Given the description of an element on the screen output the (x, y) to click on. 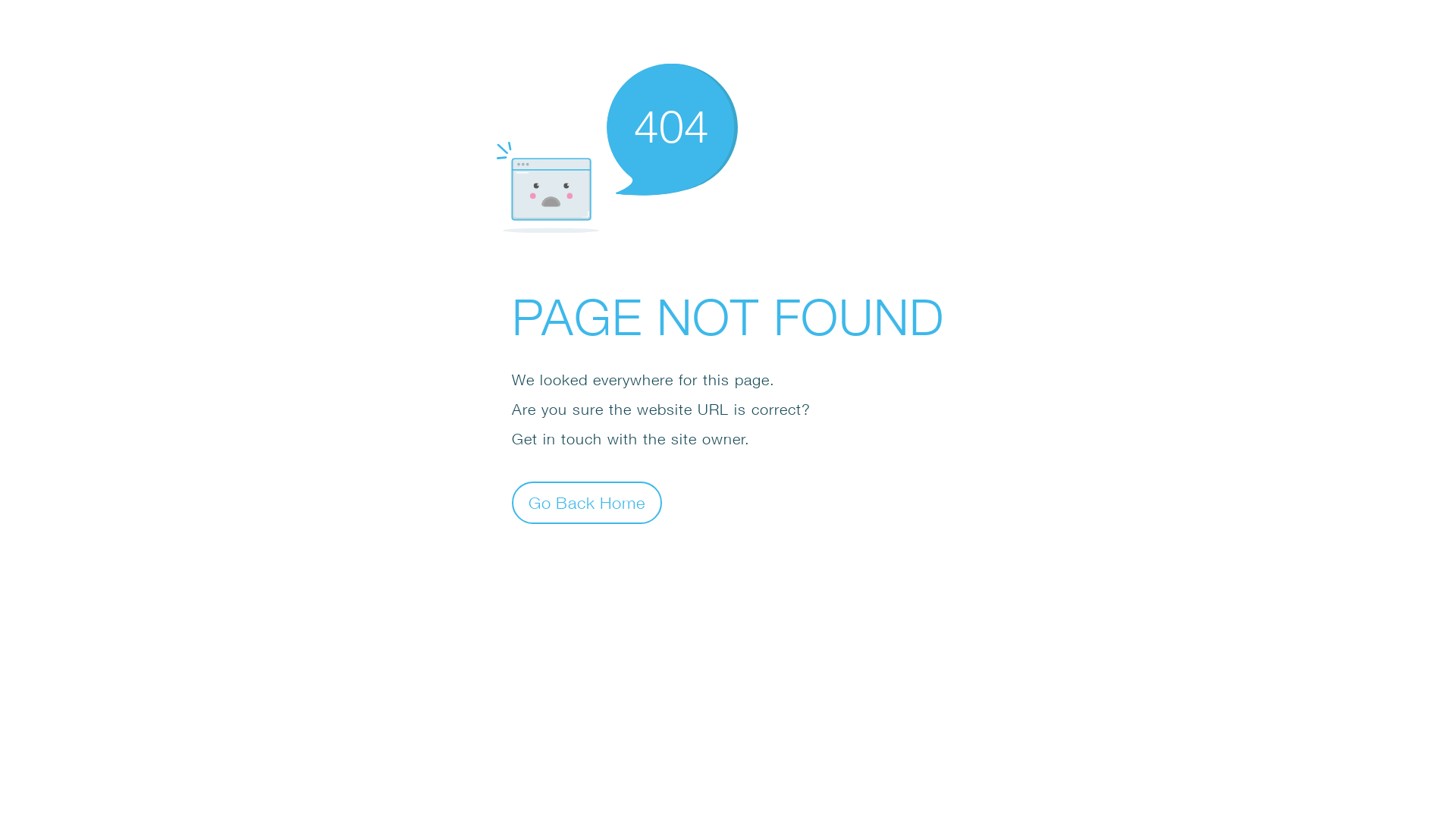
Go Back Home Element type: text (586, 502)
